Given the description of an element on the screen output the (x, y) to click on. 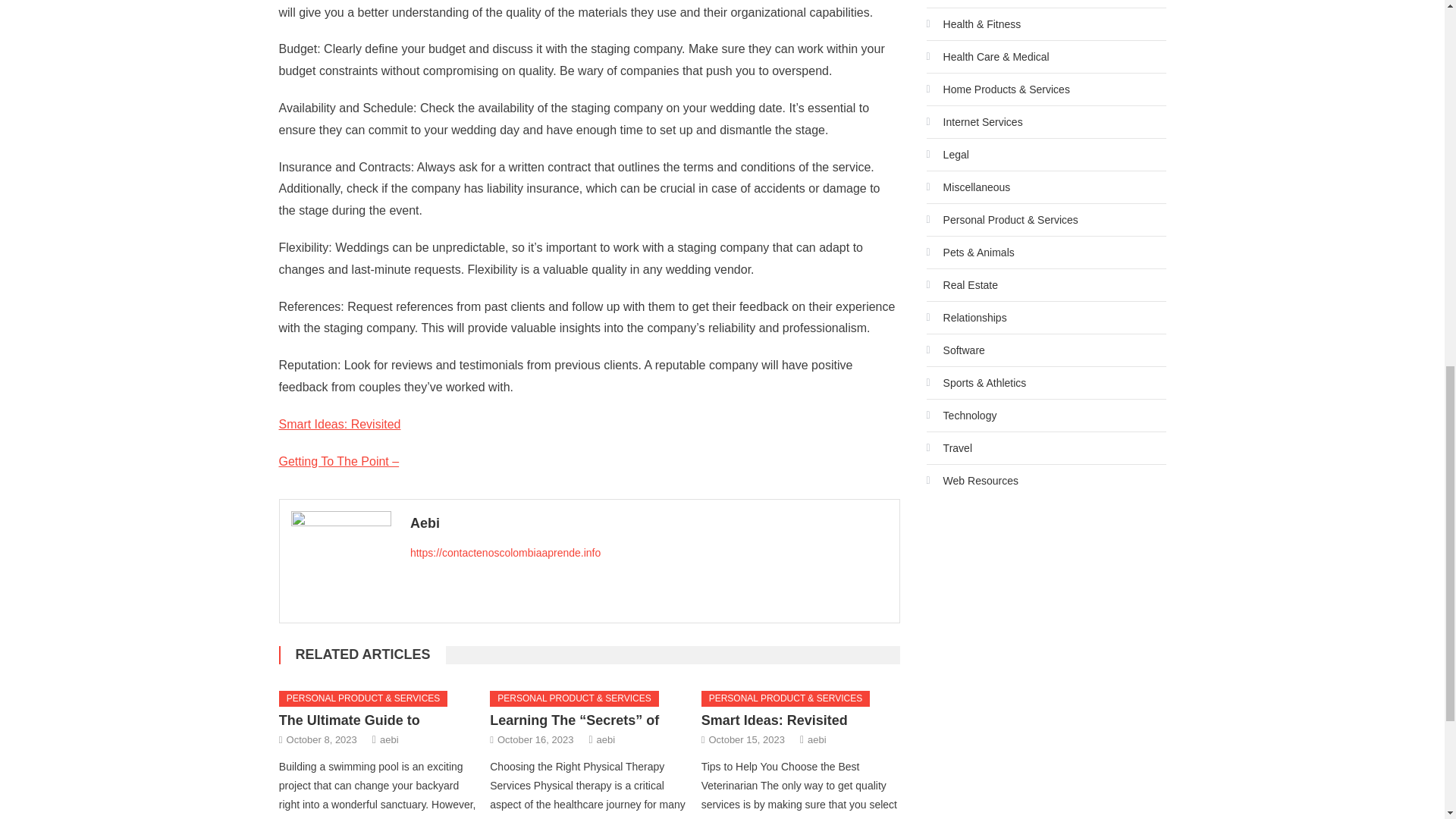
October 16, 2023 (535, 739)
October 8, 2023 (321, 739)
October 15, 2023 (745, 739)
Smart Ideas: Revisited (340, 423)
Aebi (649, 523)
aebi (389, 739)
aebi (605, 739)
aebi (817, 739)
Smart Ideas: Revisited (774, 720)
The Ultimate Guide to (349, 720)
